Given the description of an element on the screen output the (x, y) to click on. 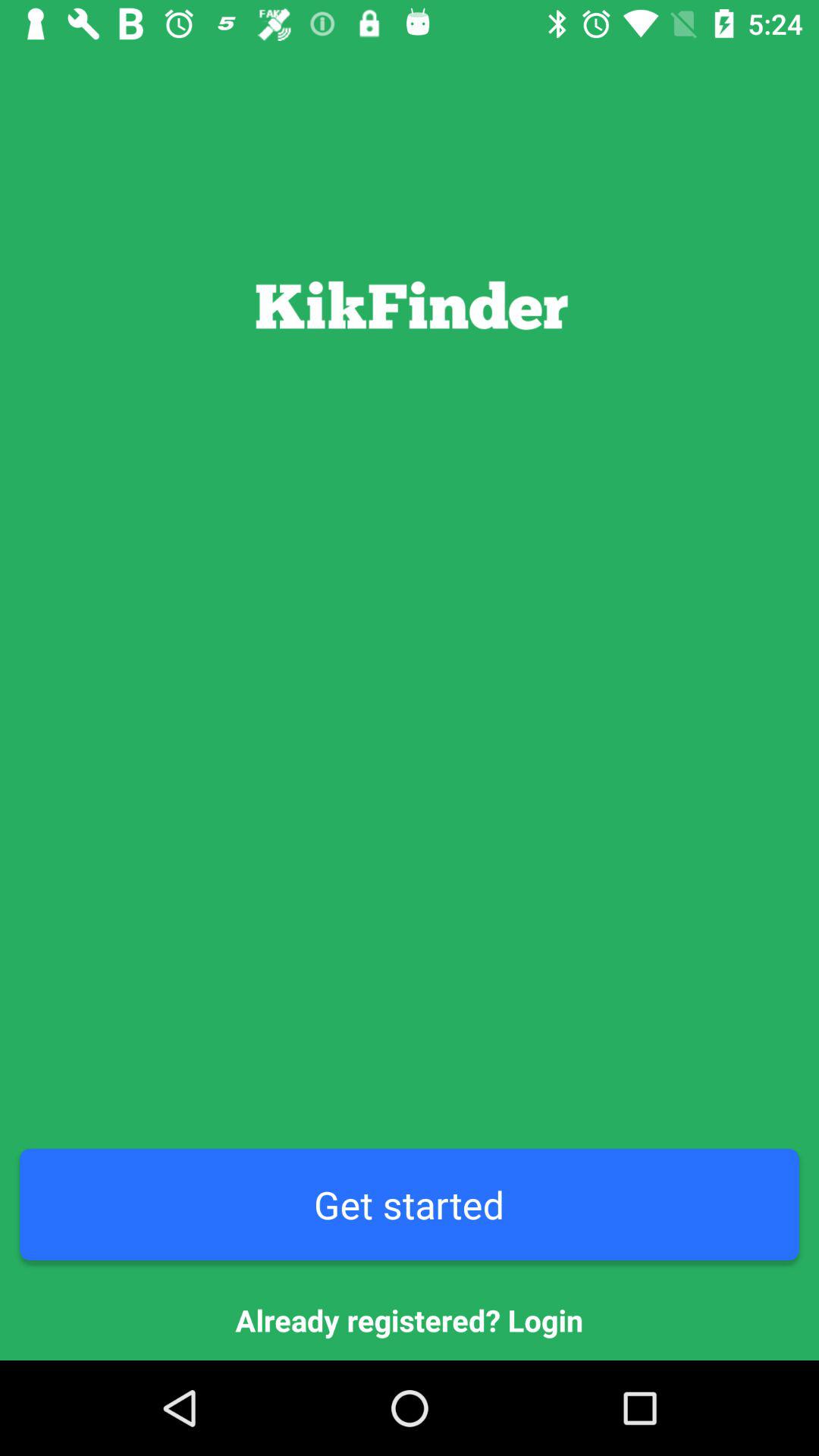
tap the icon below get started icon (409, 1320)
